Given the description of an element on the screen output the (x, y) to click on. 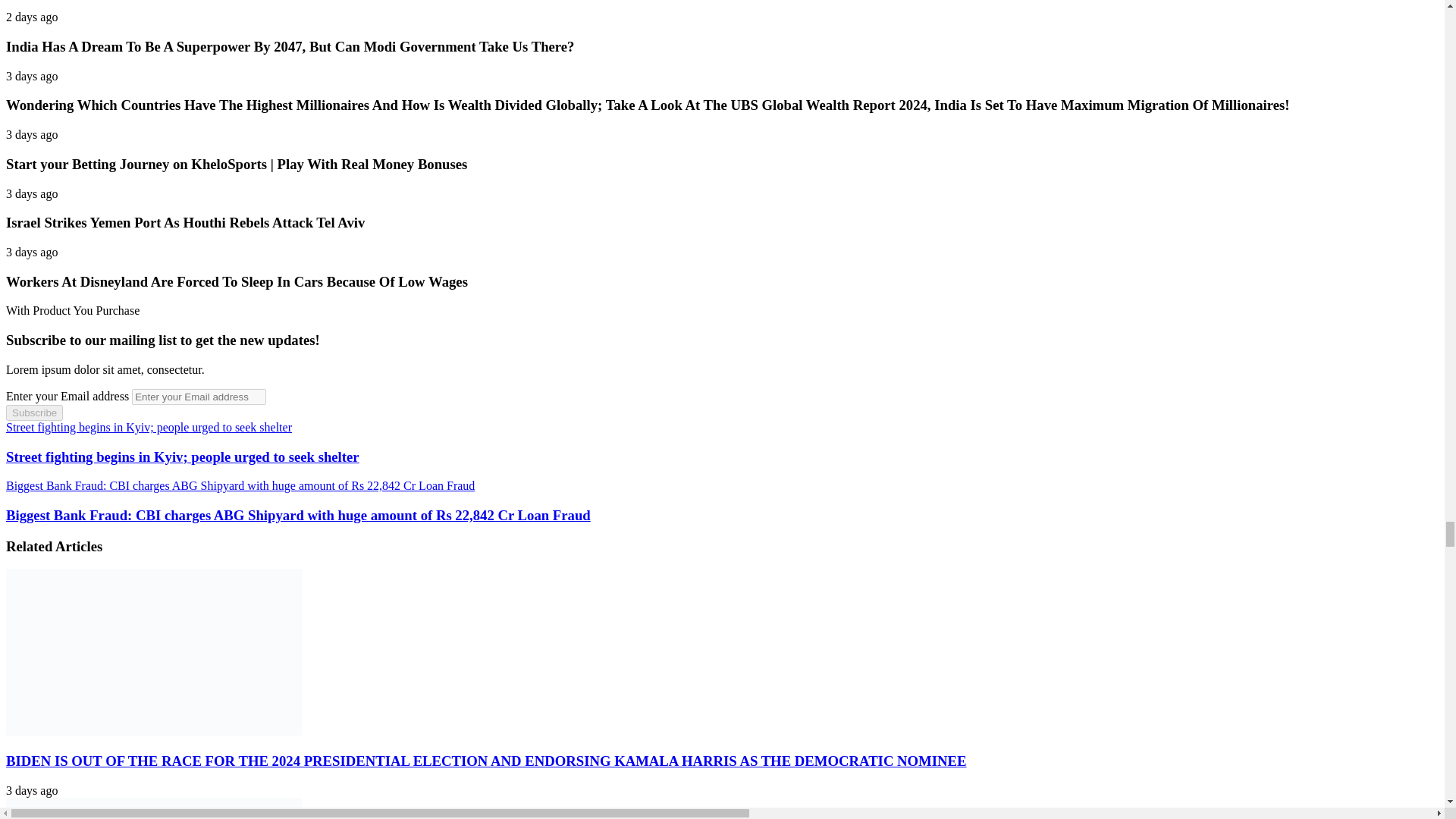
Subscribe (33, 412)
